Given the description of an element on the screen output the (x, y) to click on. 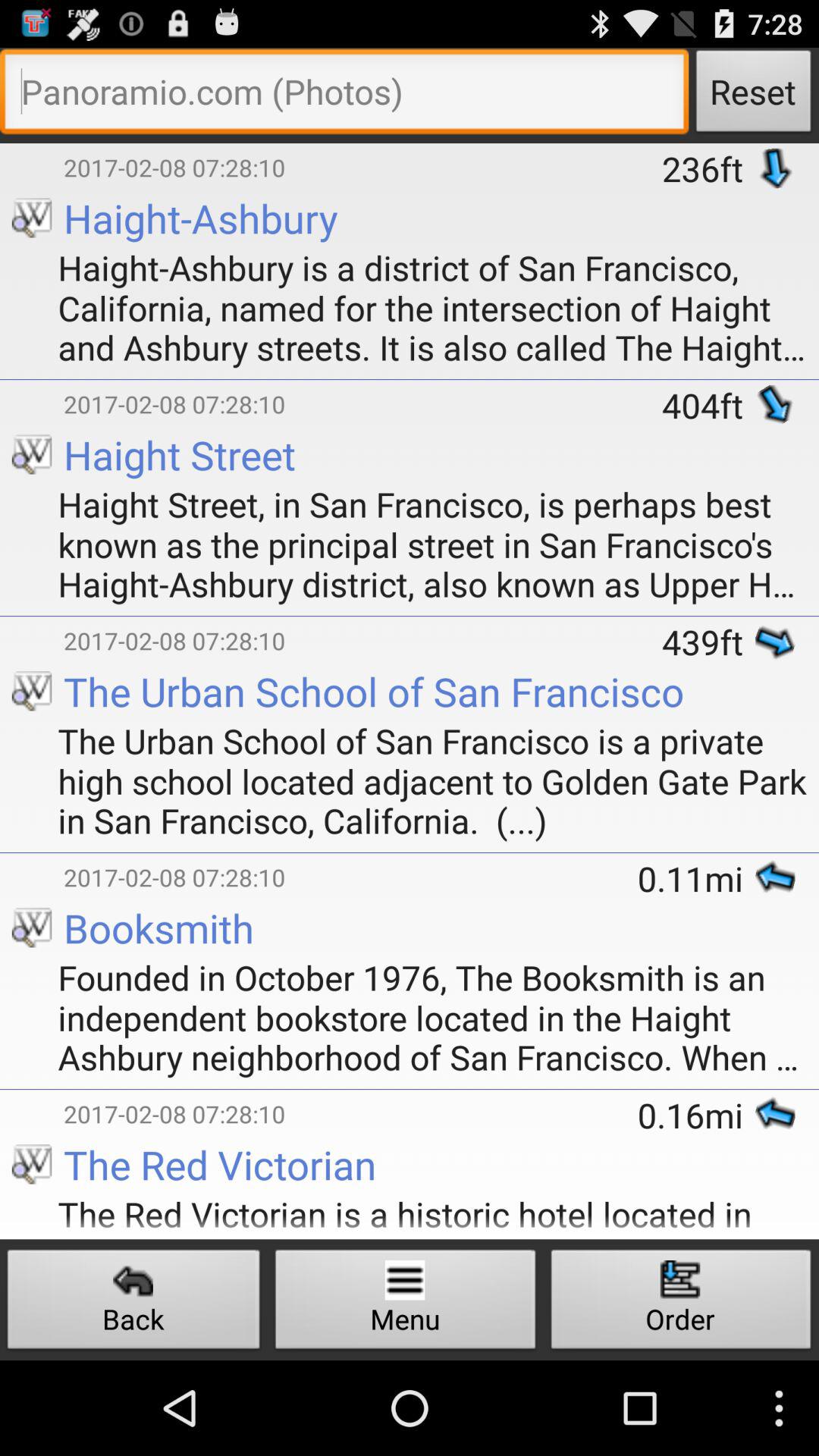
turn on the app to the left of 2017 02 08 (31, 145)
